Given the description of an element on the screen output the (x, y) to click on. 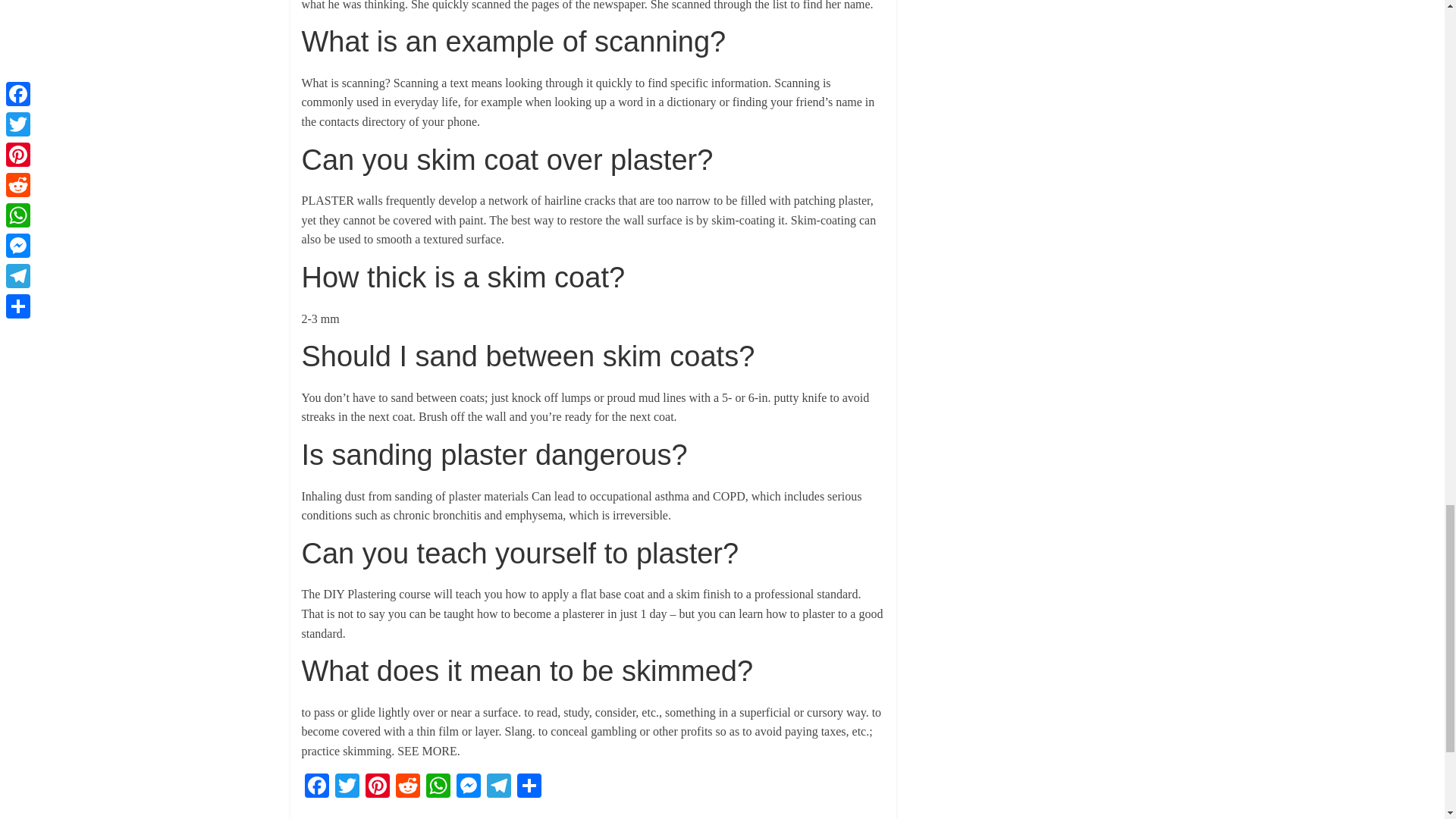
Pinterest (377, 787)
Facebook (316, 787)
Twitter (346, 787)
Reddit (408, 787)
